Given the description of an element on the screen output the (x, y) to click on. 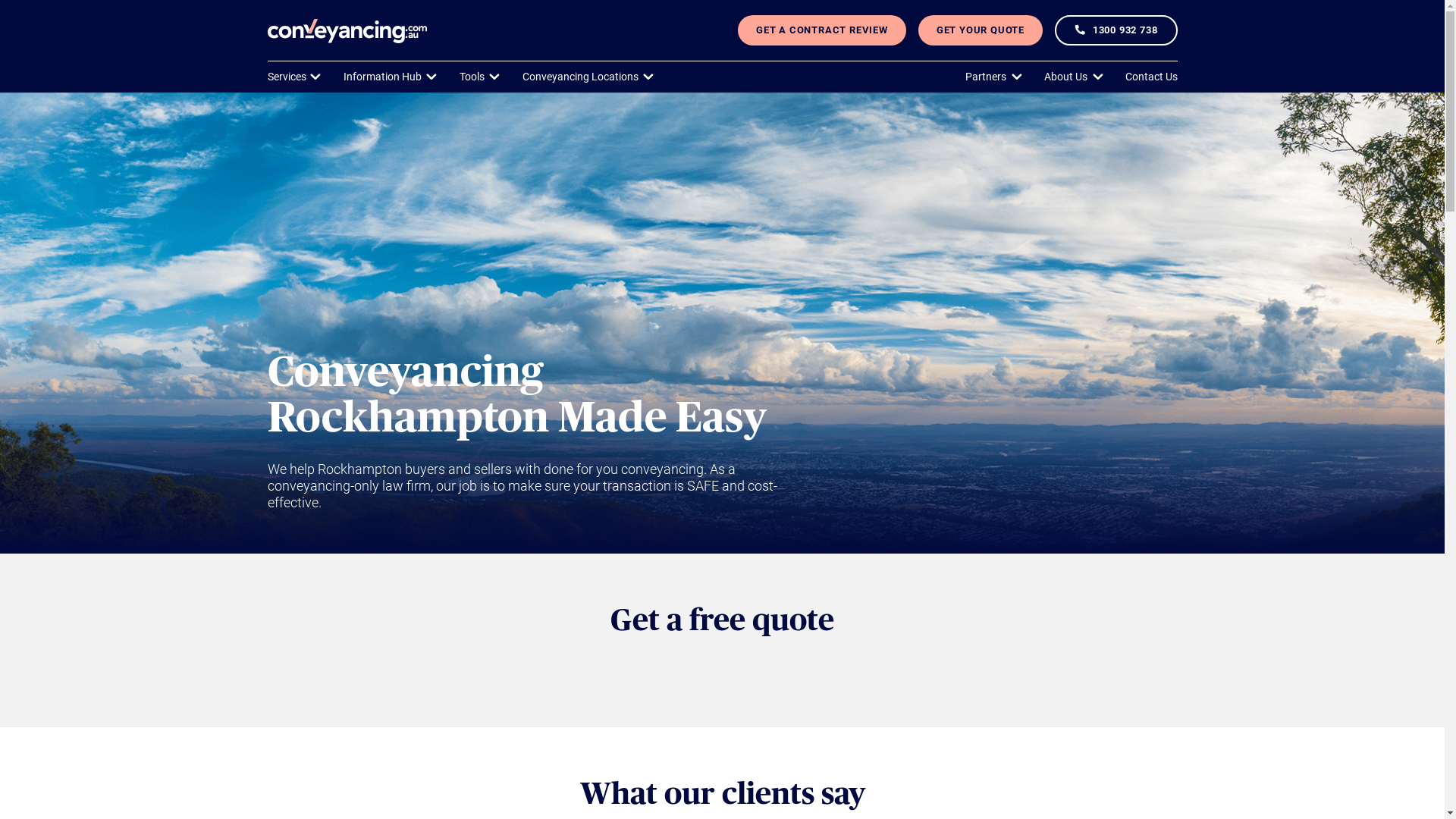
Services Element type: text (294, 77)
GET A CONTRACT REVIEW Element type: text (821, 30)
1300 932 738 Element type: text (1115, 30)
Conveyancing Locations Element type: text (589, 77)
Partners Element type: text (994, 77)
About Us Element type: text (1074, 77)
Tools Element type: text (480, 77)
Information Hub Element type: text (391, 77)
Contact Us Element type: text (1151, 77)
GET YOUR QUOTE Element type: text (980, 30)
